Given the description of an element on the screen output the (x, y) to click on. 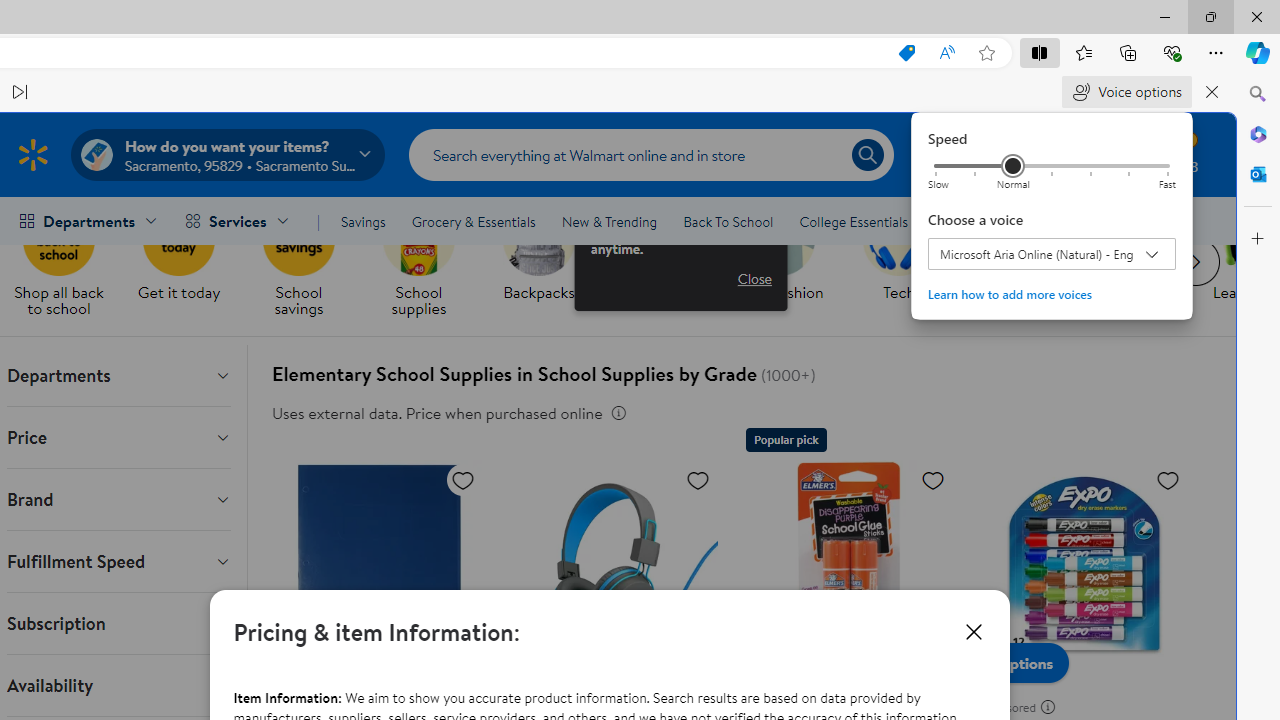
Read next paragraph (19, 92)
Close dialog (973, 631)
